Given the description of an element on the screen output the (x, y) to click on. 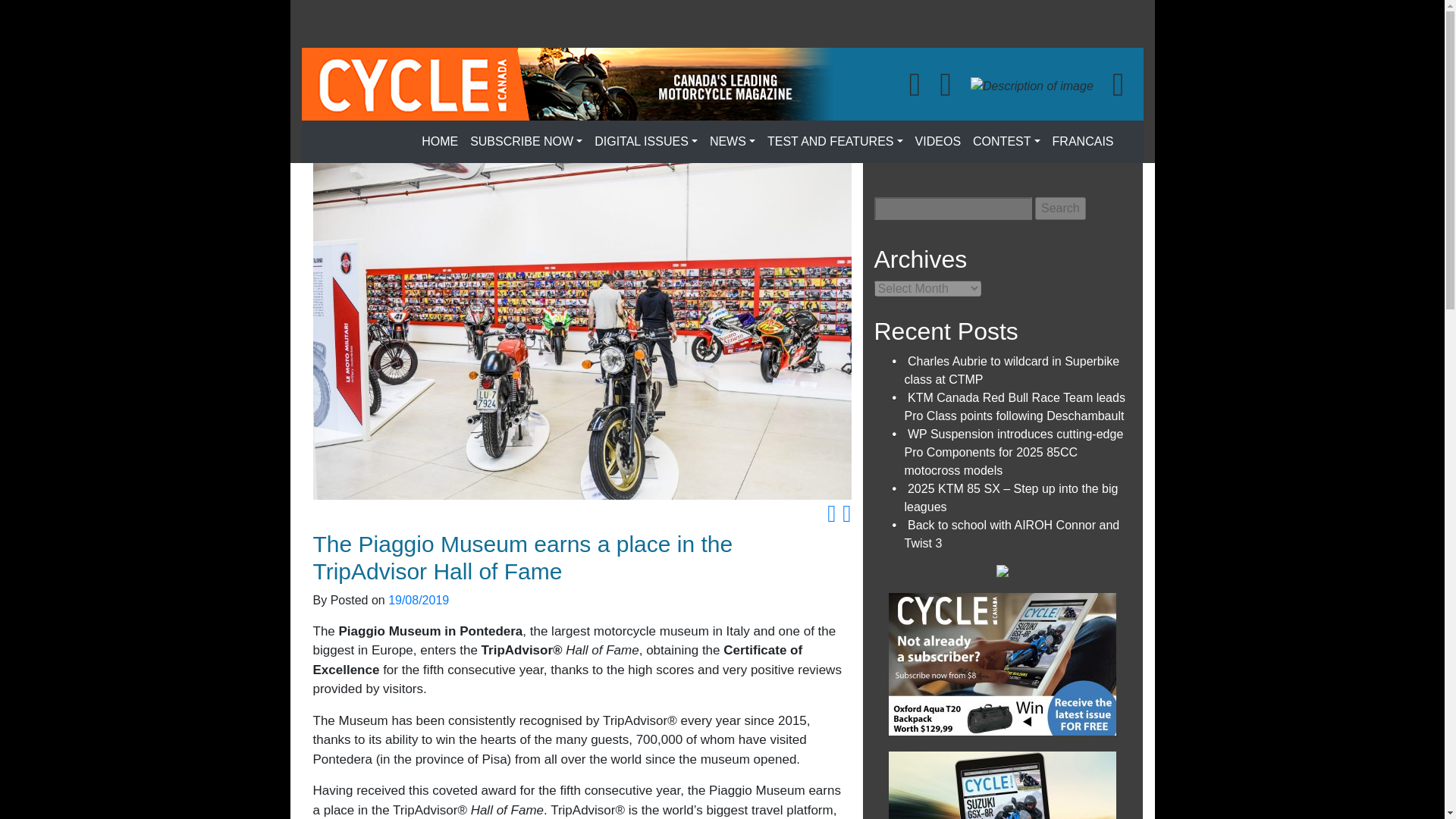
Search (1060, 208)
Search (1060, 208)
SUBSCRIBE NOW (526, 141)
DIGITAL ISSUES (645, 141)
HOME (439, 141)
